Given the description of an element on the screen output the (x, y) to click on. 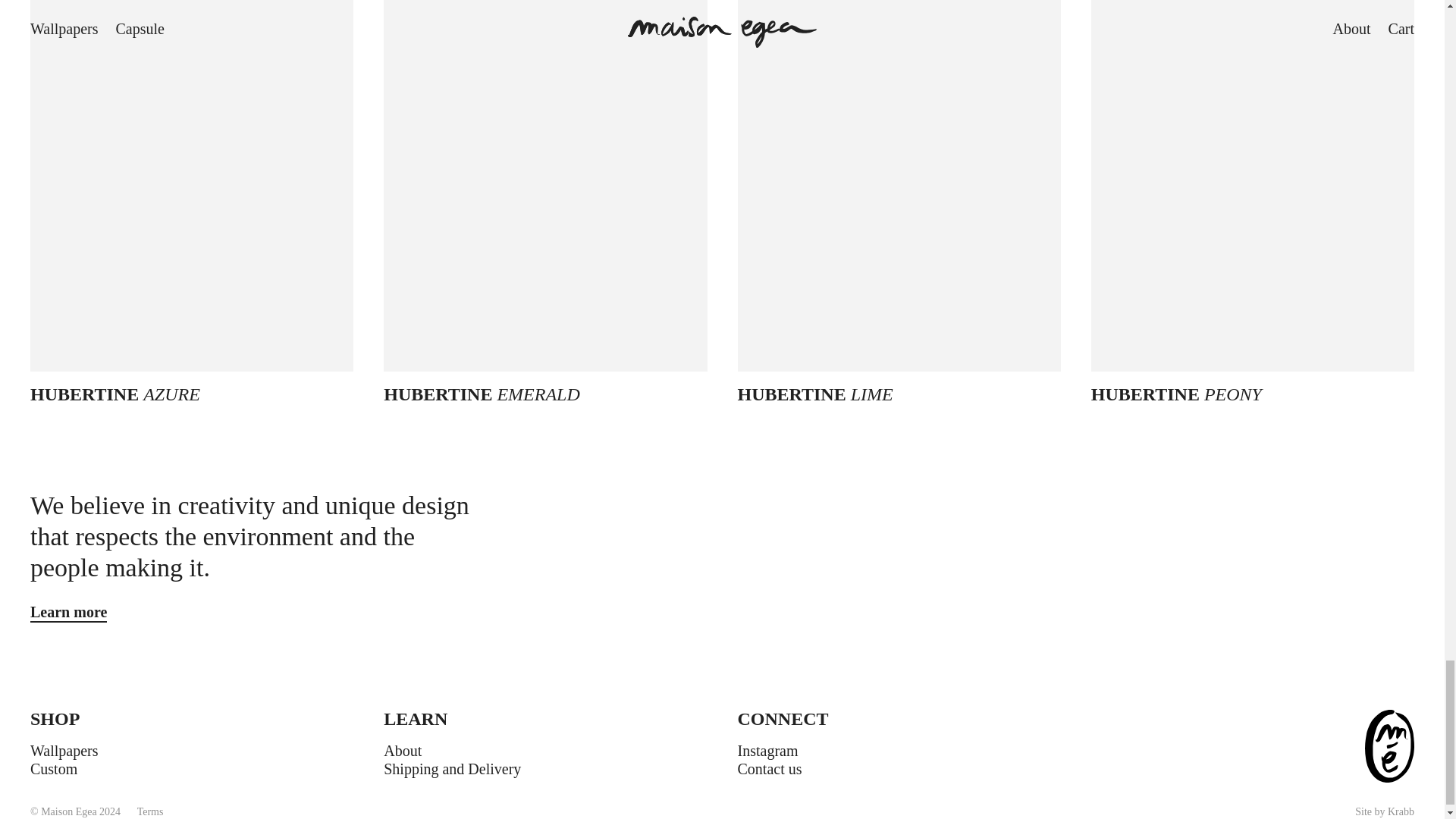
Contact us (769, 768)
Custom (53, 768)
insta (766, 750)
Terms (149, 811)
Shipping and Delivery (452, 768)
About (403, 750)
Instagram (766, 750)
Krabb (1400, 811)
Wallpapers (63, 750)
Learn more (68, 612)
